Given the description of an element on the screen output the (x, y) to click on. 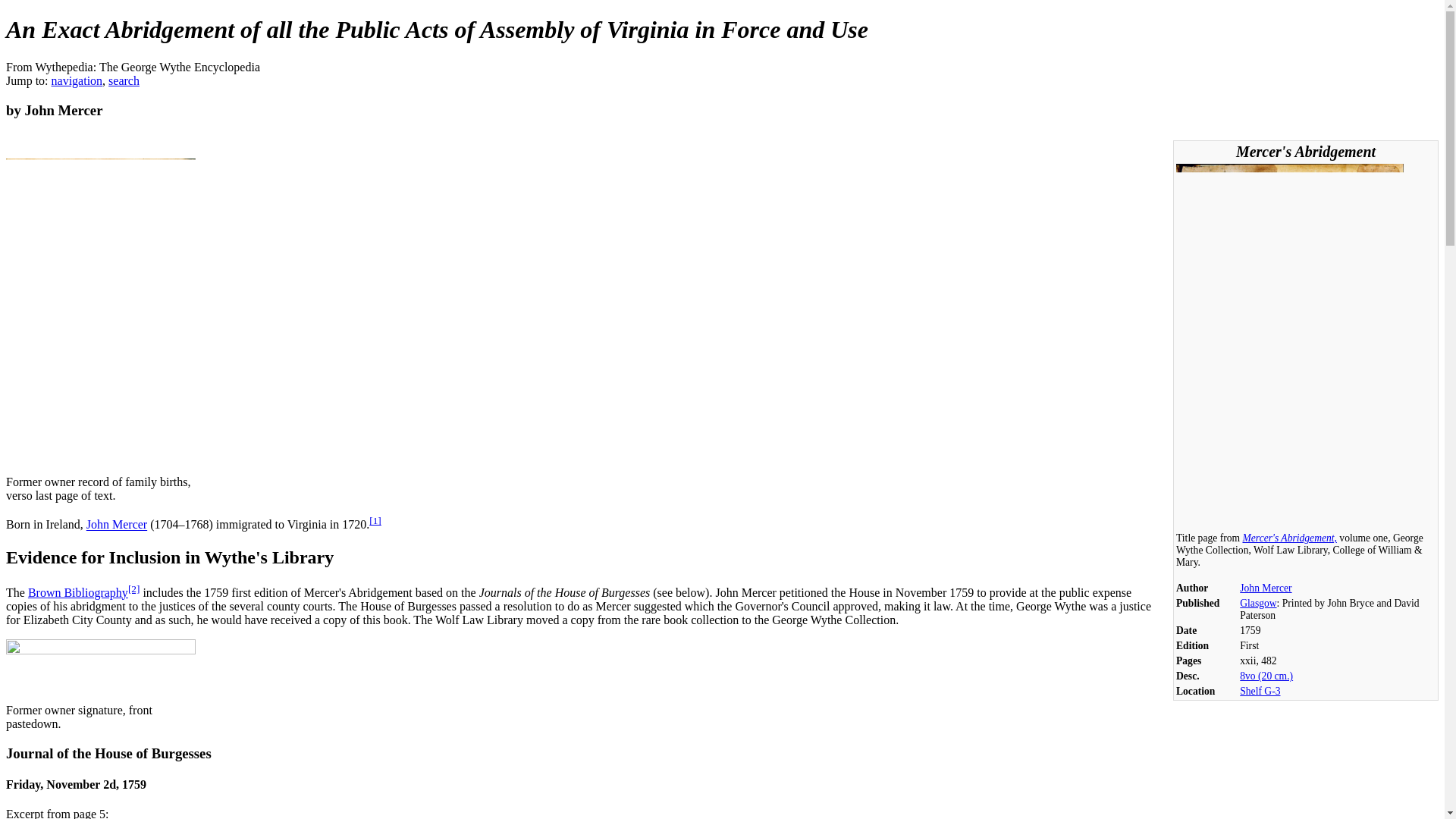
Category:Octavos (1266, 675)
Mercer's Abridgement, (1288, 537)
search (123, 80)
navigation (76, 80)
John Mercer (1265, 587)
Glasgow (1258, 603)
Category:Glasgow (1258, 603)
Shelf G-3 (1259, 690)
Category:John Mercer (1265, 587)
Brown Bibliography (77, 592)
